Given the description of an element on the screen output the (x, y) to click on. 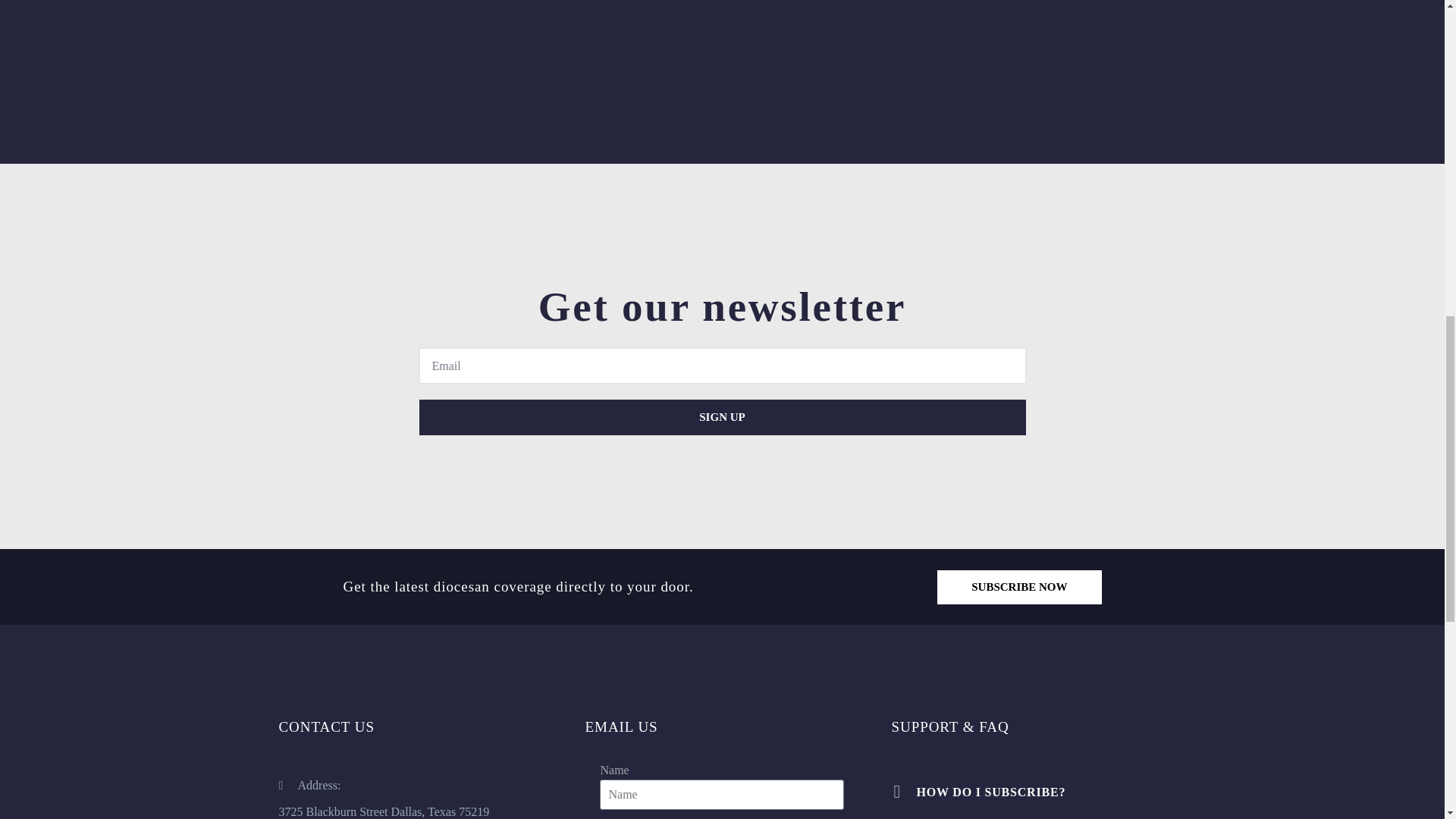
SIGN UP (722, 416)
SUBSCRIBE NOW (1018, 587)
HOW DO I SUBSCRIBE? (1028, 792)
